Given the description of an element on the screen output the (x, y) to click on. 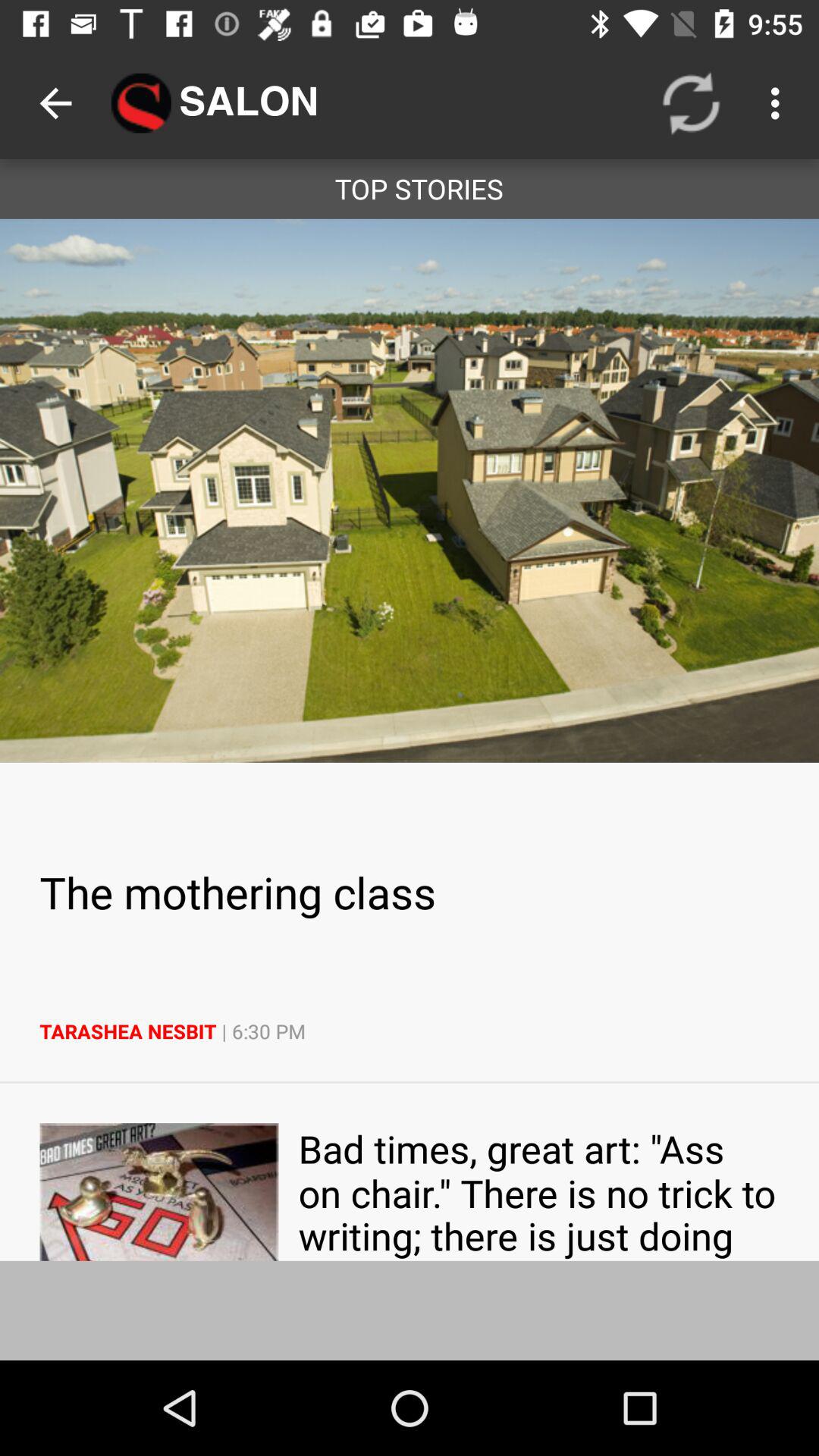
choose tarashea nesbit 6 item (409, 1031)
